Given the description of an element on the screen output the (x, y) to click on. 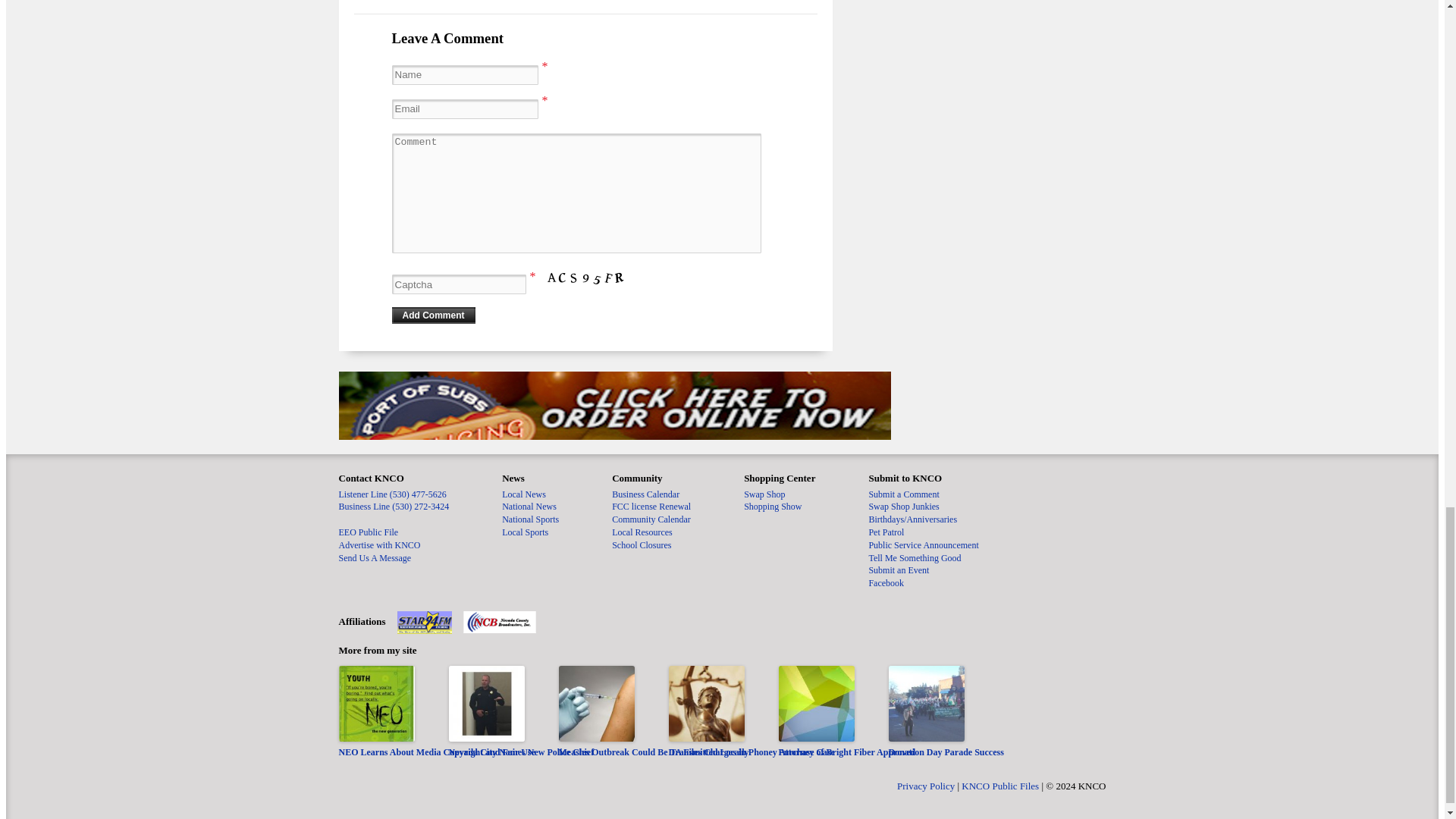
graphic.NCBInc (499, 621)
Add Comment (432, 315)
graphic.Star94FM (424, 621)
